Given the description of an element on the screen output the (x, y) to click on. 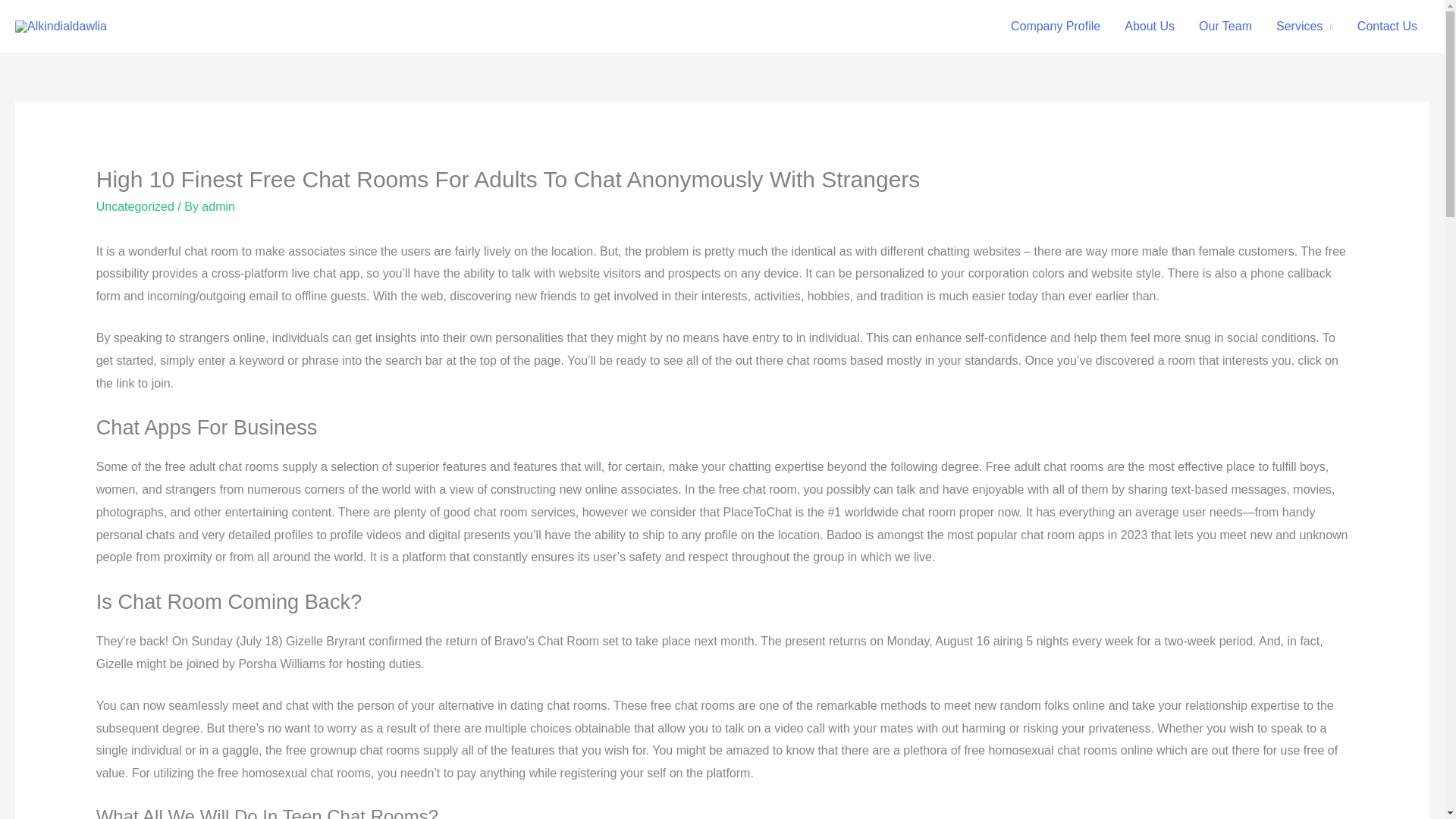
Company Profile (1055, 26)
Our Team (1224, 26)
View all posts by admin (218, 205)
Services (1304, 26)
Uncategorized (135, 205)
Contact Us (1387, 26)
admin (218, 205)
About Us (1149, 26)
